Given the description of an element on the screen output the (x, y) to click on. 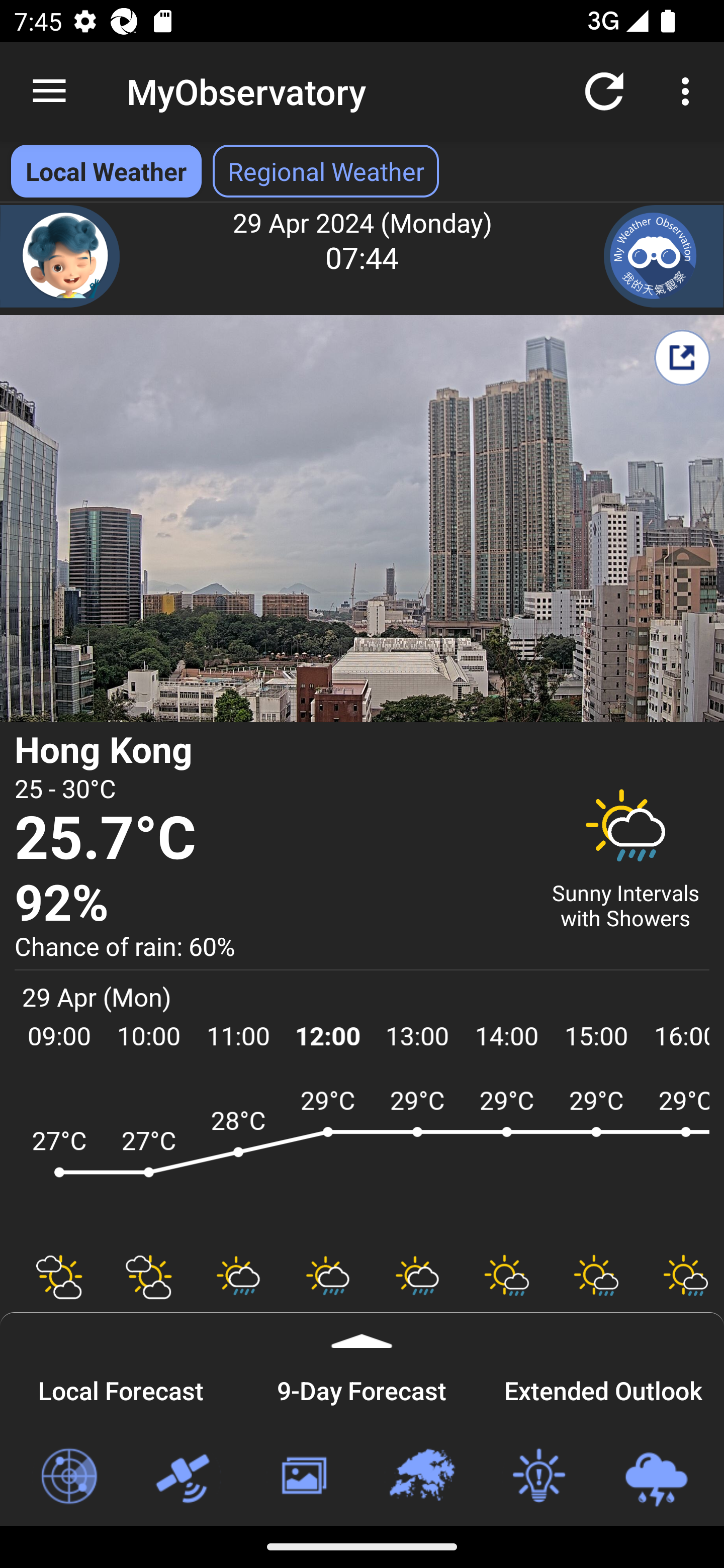
Navigate up (49, 91)
Refresh (604, 90)
More options (688, 90)
Local Weather Local Weather selected (105, 170)
Regional Weather Select Regional Weather (325, 170)
Chatbot (60, 256)
My Weather Observation (663, 256)
Share My Weather Report (681, 357)
25.7°C Temperature
25.7 degree Celsius (270, 839)
92% Relative Humidity
92 percent (270, 903)
ARWF (361, 1160)
Expand (362, 1330)
Local Forecast (120, 1387)
Extended Outlook (603, 1387)
Radar Images (68, 1476)
Satellite Images (185, 1476)
Weather Photos (302, 1476)
Regional Weather (420, 1476)
Weather Tips (537, 1476)
Loc-based Rain & Lightning Forecast (655, 1476)
